Given the description of an element on the screen output the (x, y) to click on. 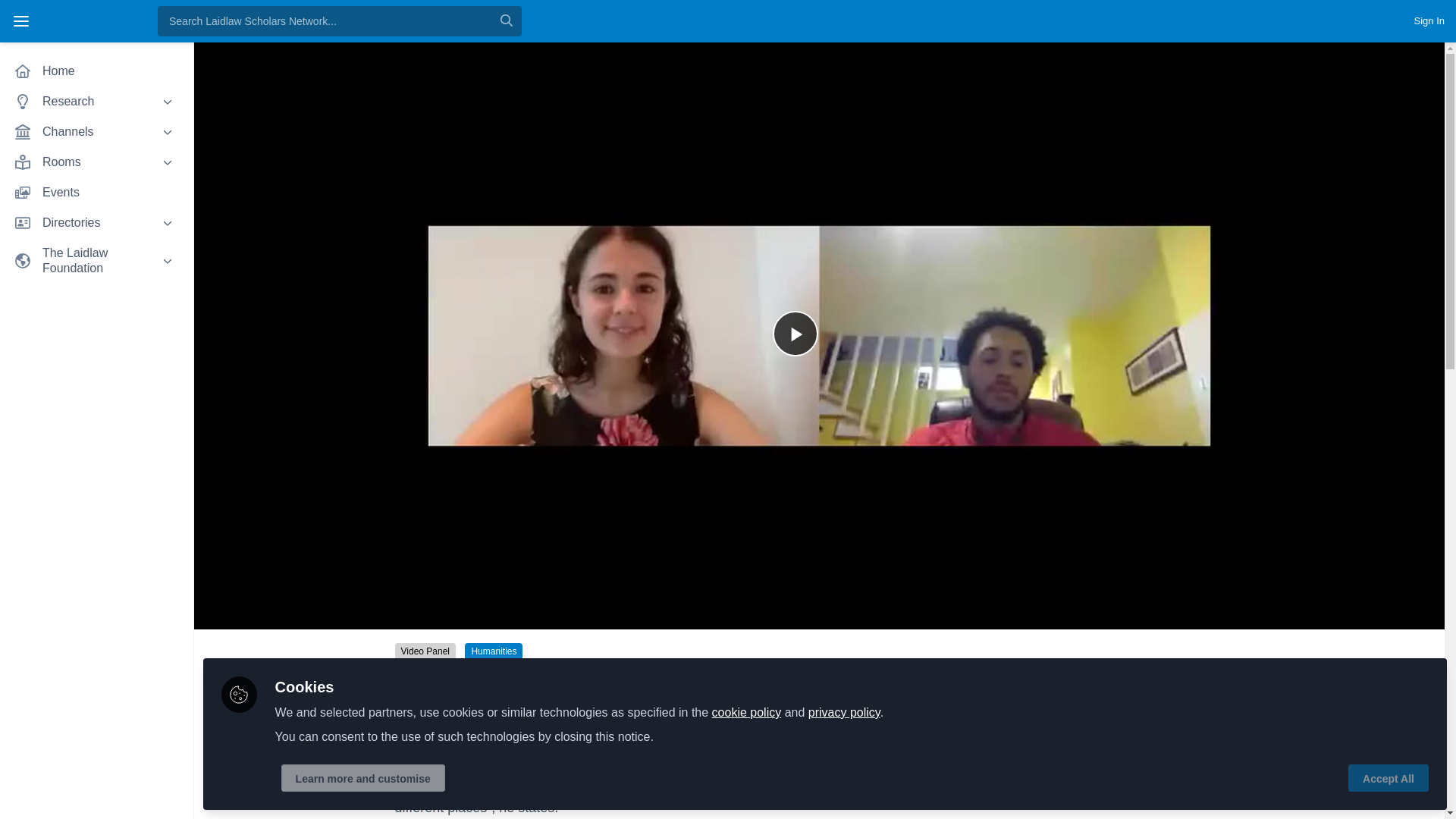
Home (96, 71)
Research (96, 101)
Channels (96, 131)
Laidlaw Scholars Network (92, 21)
Rooms (96, 162)
Research (96, 101)
Menu (21, 21)
Search (506, 20)
Home (96, 71)
Rooms (96, 162)
